Given the description of an element on the screen output the (x, y) to click on. 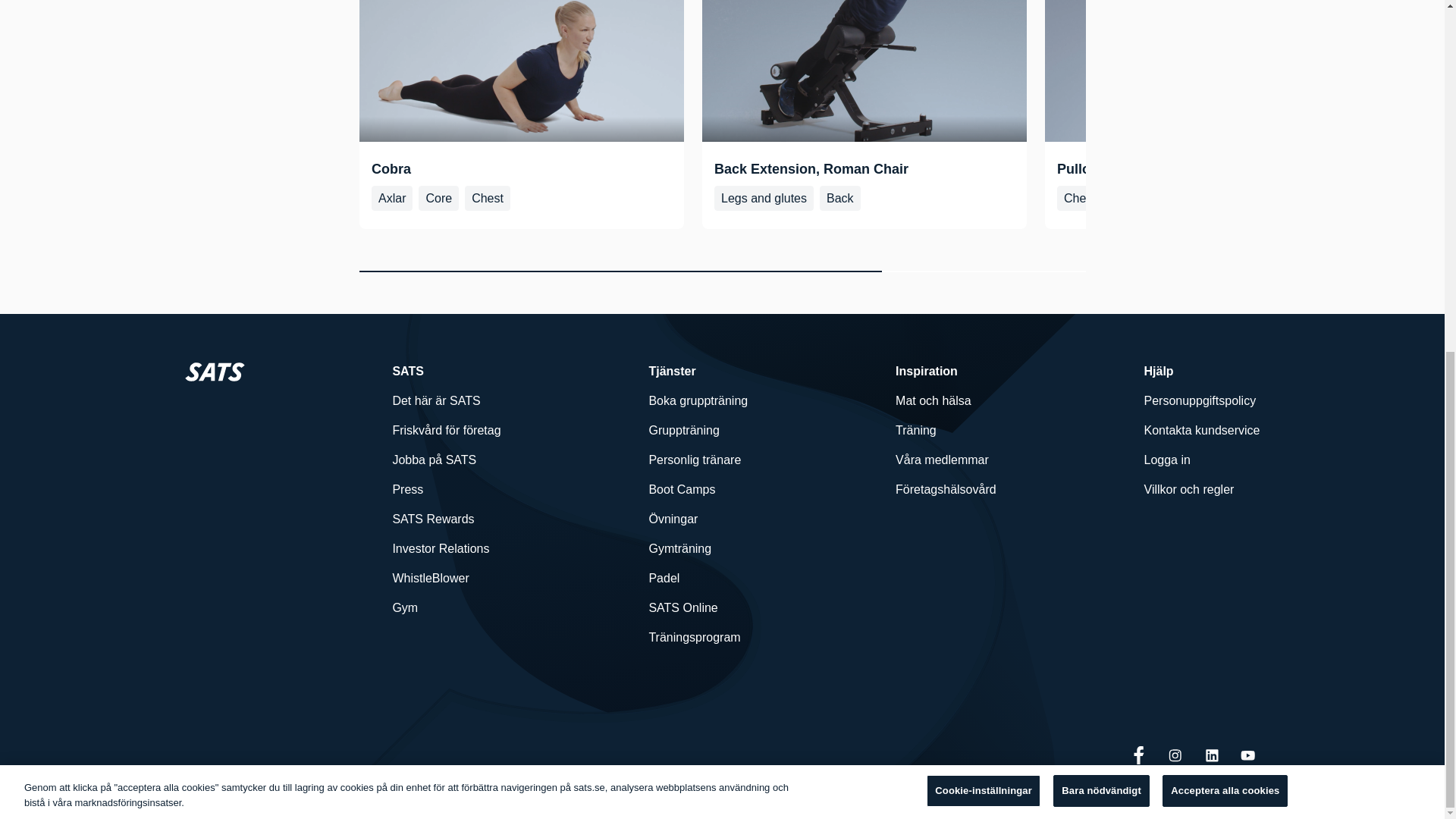
youTube (1248, 754)
instagram (1175, 754)
facebook (1138, 754)
linkedIn (1211, 754)
